Given the description of an element on the screen output the (x, y) to click on. 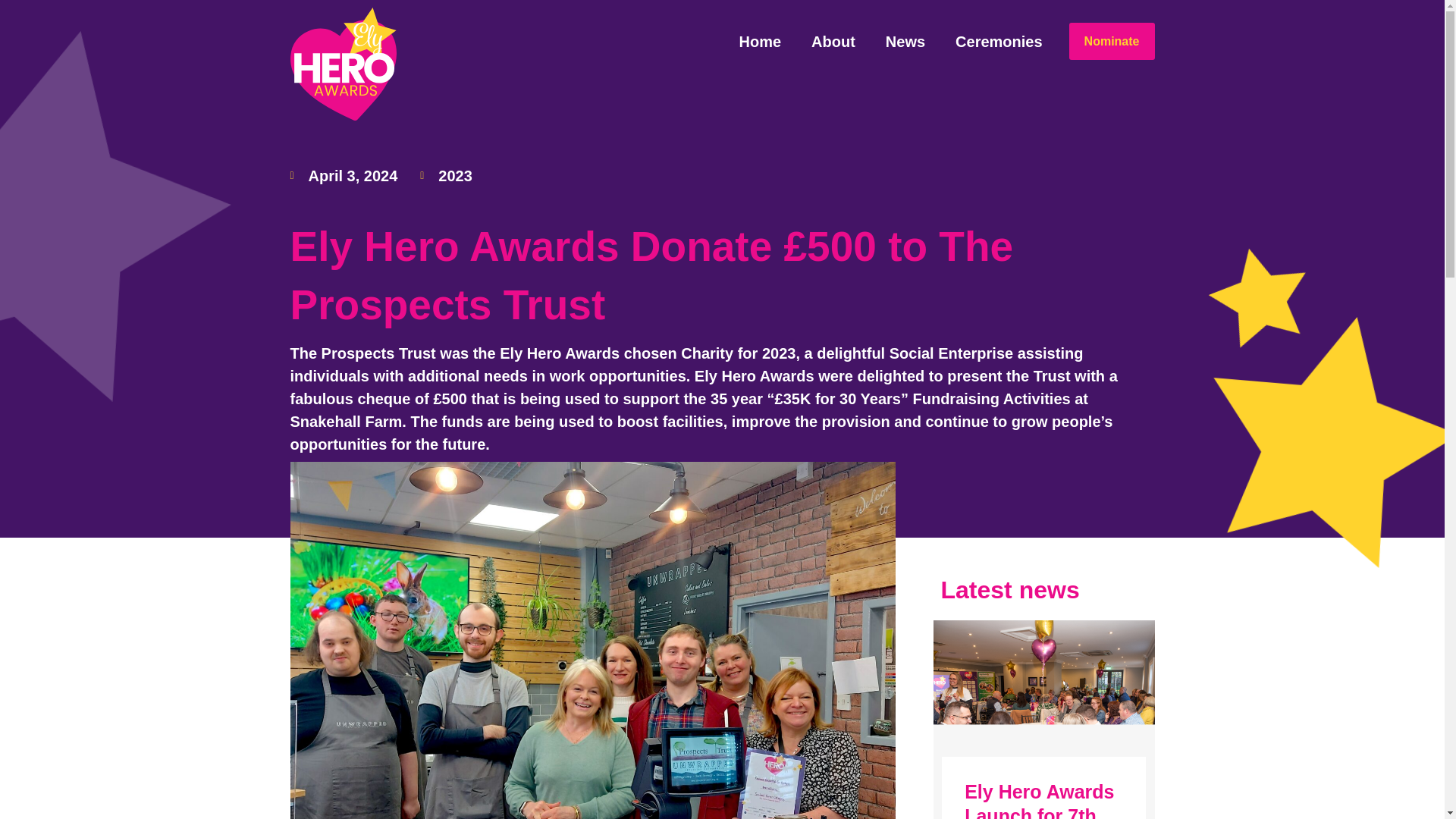
Ely Hero Awards Launch for 7th Year (1038, 800)
Ceremonies (999, 41)
About (833, 41)
2023 (454, 175)
Ely Hero Awards Launch for 7th Year (1043, 705)
Nominate (1111, 40)
Home (760, 41)
April 3, 2024 (343, 175)
News (905, 41)
